Given the description of an element on the screen output the (x, y) to click on. 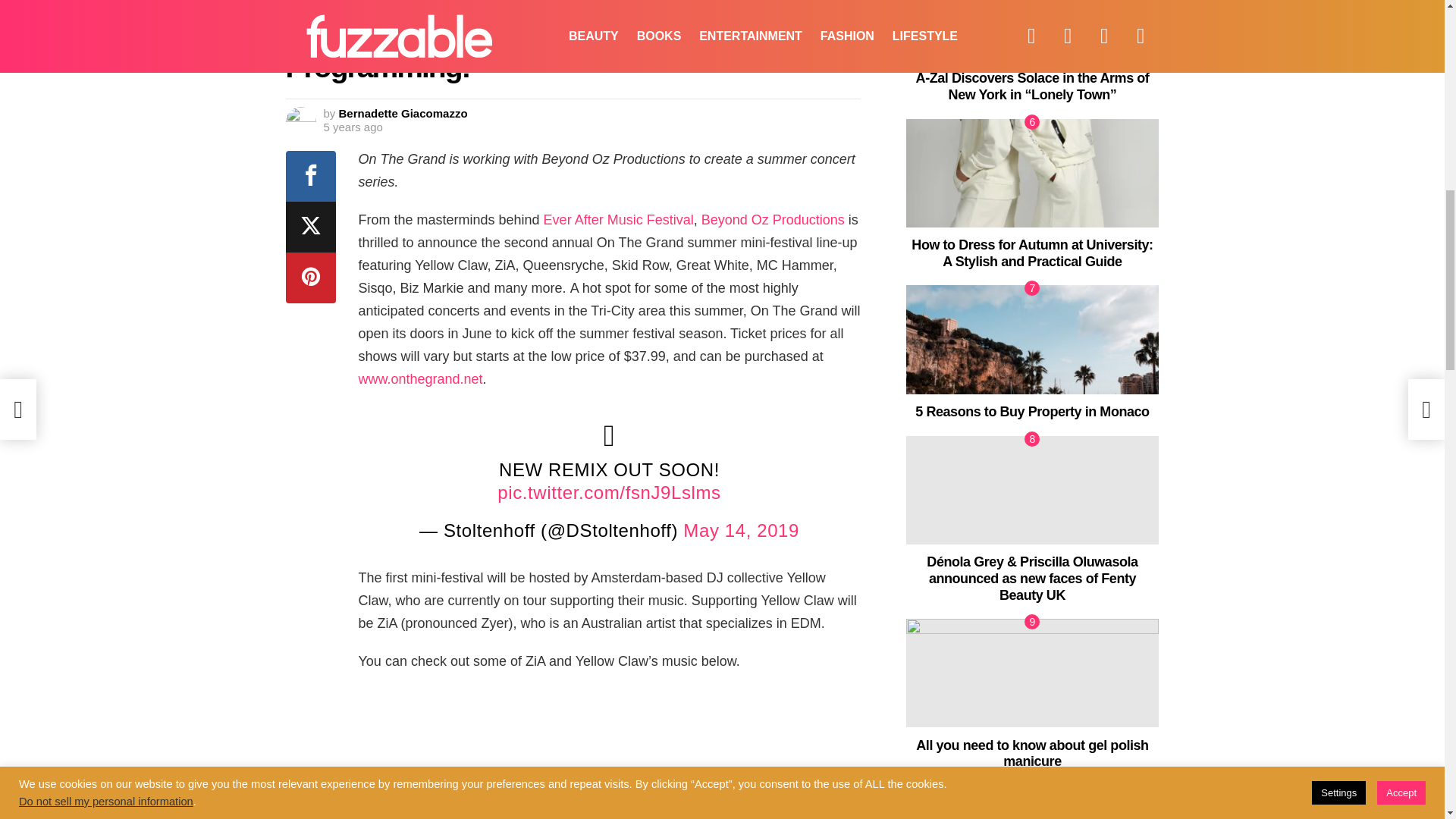
Ever After Music Festival (618, 219)
Beyond Oz Productions (772, 219)
May 14, 2019 (740, 530)
Posts by Bernadette Giacomazzo (403, 113)
May 17, 2019, 3:20 pm (352, 127)
Bernadette Giacomazzo (403, 113)
www.onthegrand.net (419, 378)
